Given the description of an element on the screen output the (x, y) to click on. 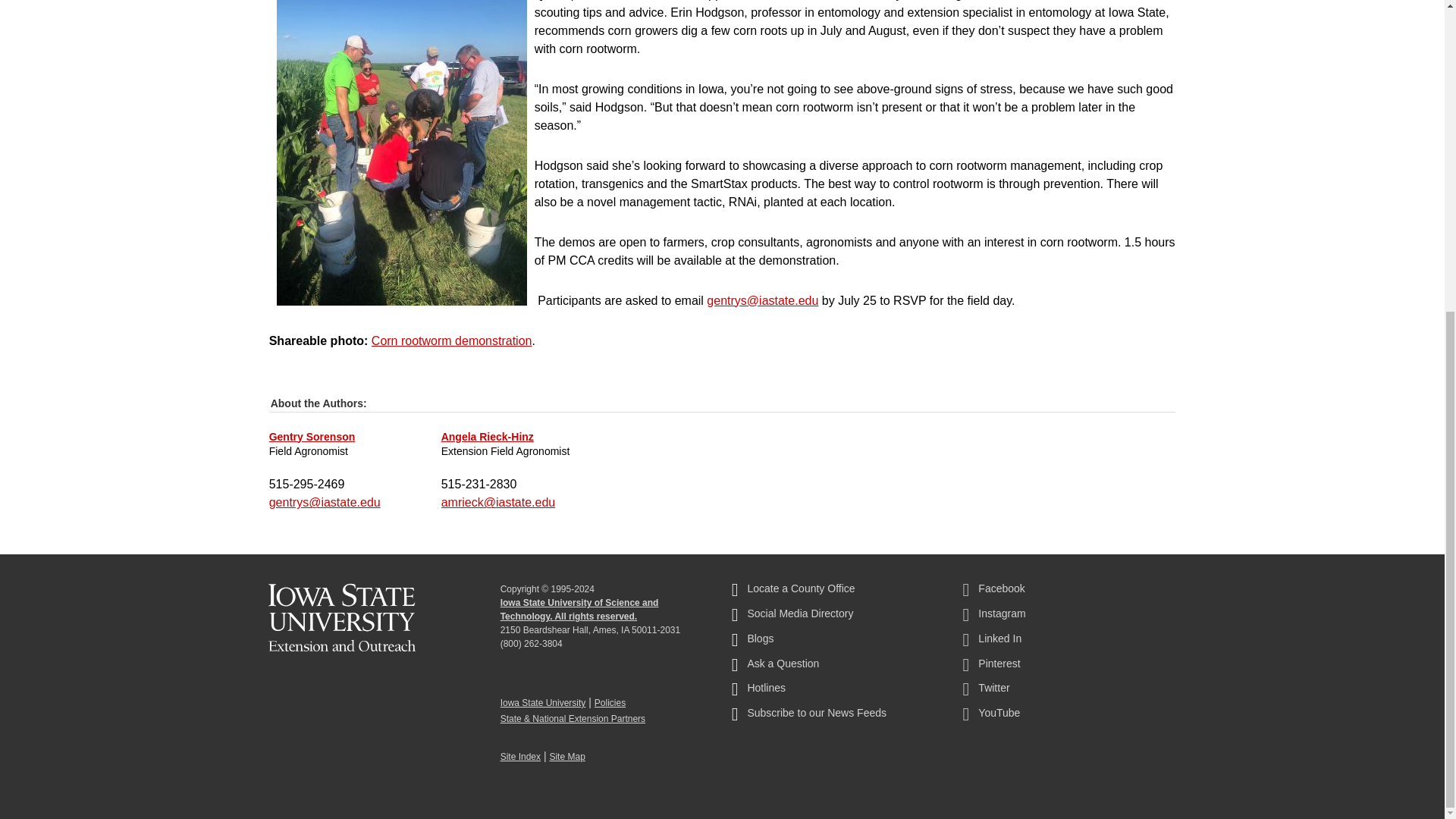
Policies (610, 702)
Gentry Sorenson (312, 435)
Corn rootworm demonstration (451, 340)
Angela Rieck-Hinz (487, 435)
Iowa State University (543, 702)
